Given the description of an element on the screen output the (x, y) to click on. 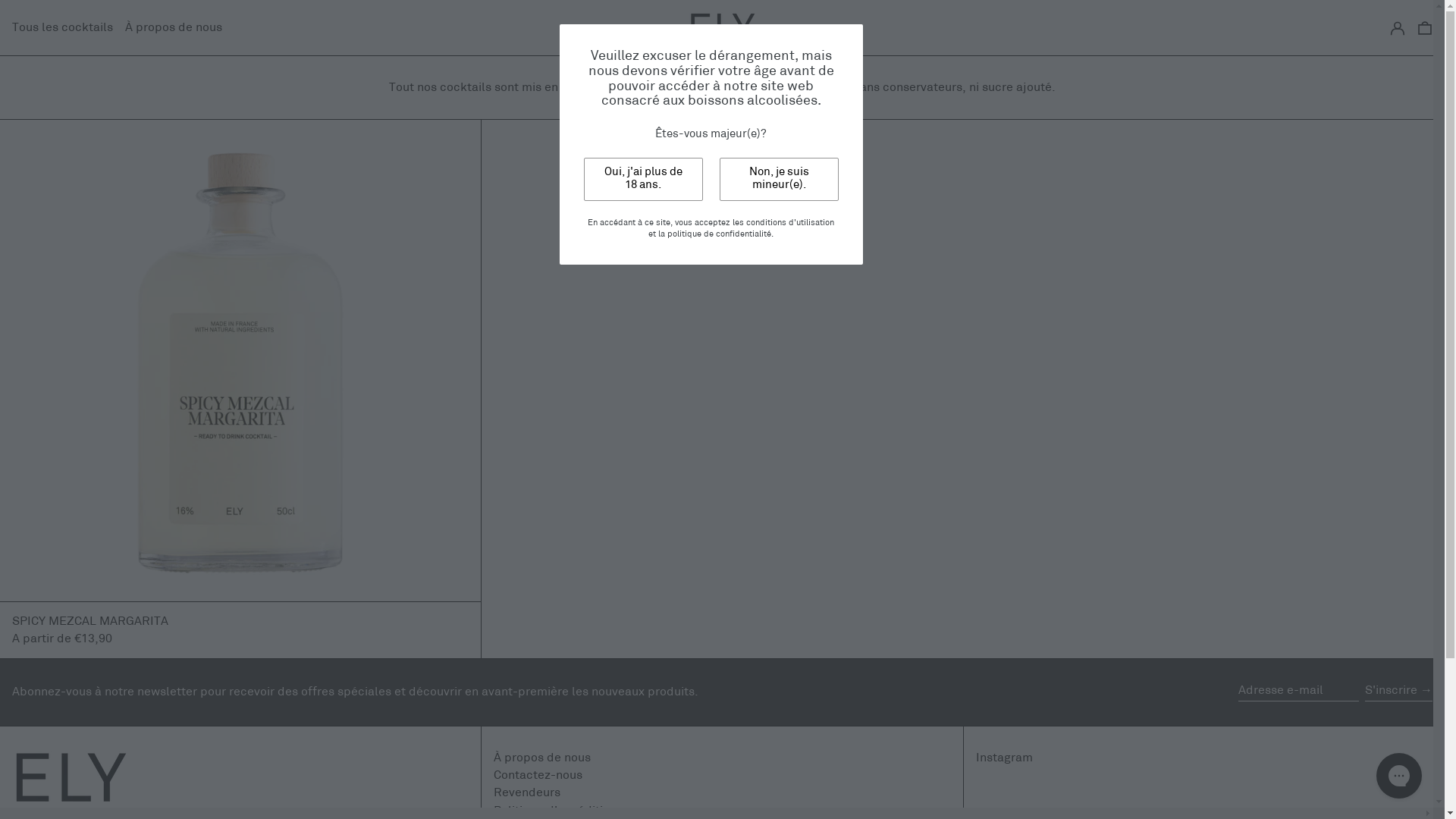
Se connecter Element type: text (1397, 27)
Oui, j'ai plus de 18 ans. Element type: text (642, 178)
Instagram Element type: text (1003, 757)
Non, je suis mineur(e). Element type: text (777, 178)
Contactez-nous Element type: text (537, 775)
Revendeurs Element type: text (526, 792)
Tous les cocktails Element type: text (62, 27)
Gorgias live chat messenger Element type: hover (1398, 775)
0 articles Element type: text (1424, 27)
